Given the description of an element on the screen output the (x, y) to click on. 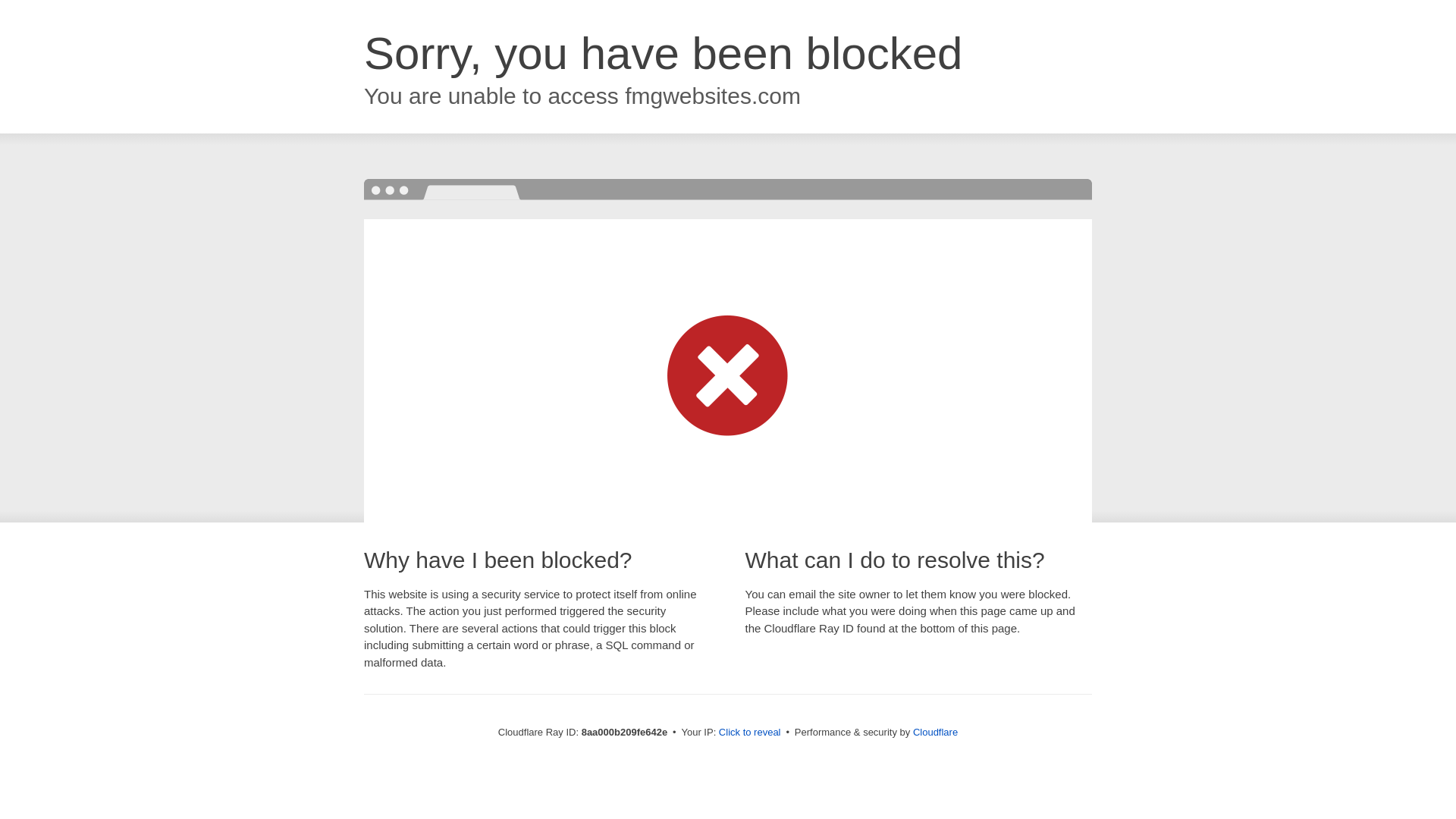
Cloudflare (935, 731)
Click to reveal (749, 732)
